Given the description of an element on the screen output the (x, y) to click on. 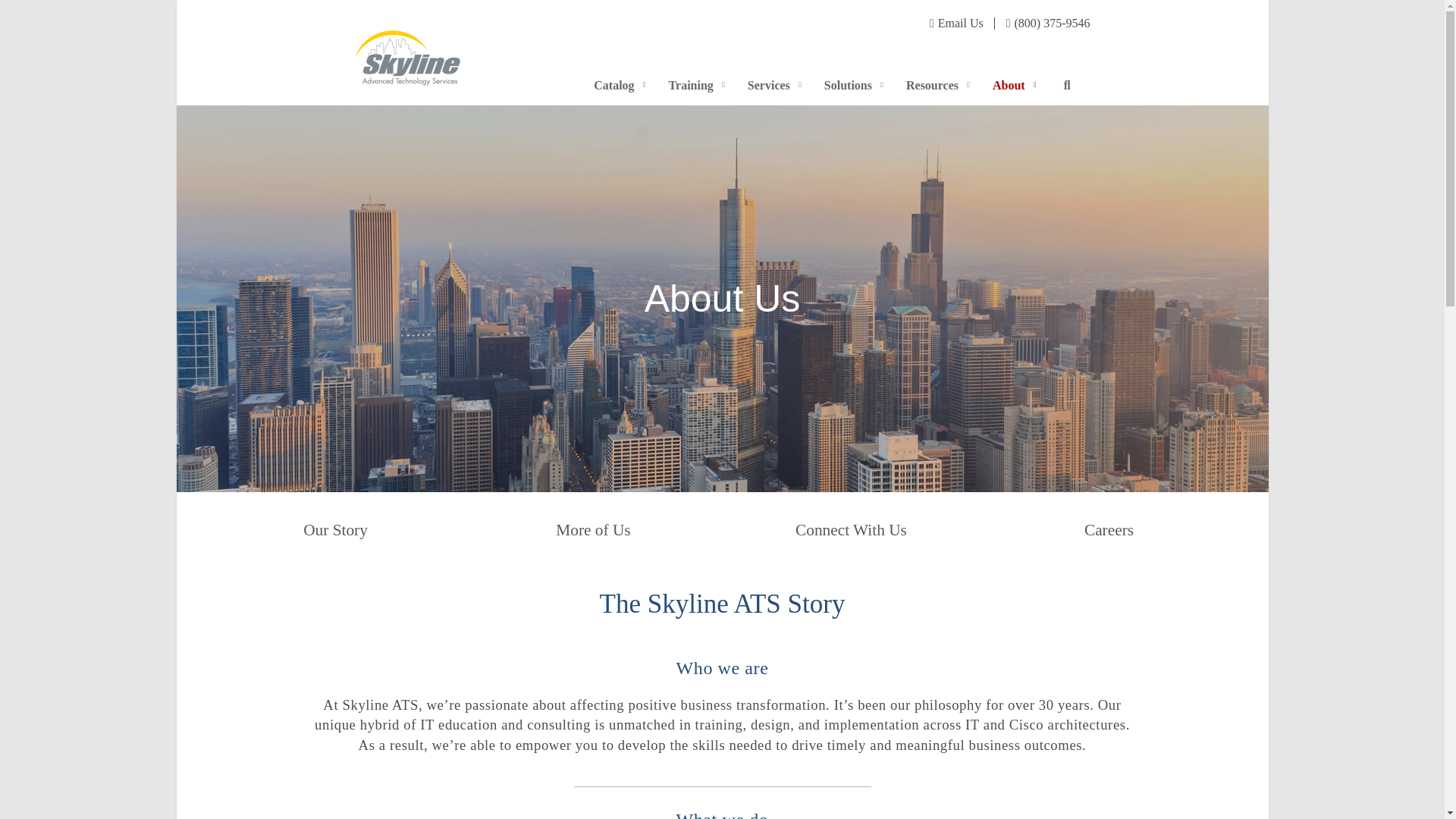
Email Us (833, 72)
Skyline Advanced Technology Services (957, 22)
Catalog (407, 50)
